Given the description of an element on the screen output the (x, y) to click on. 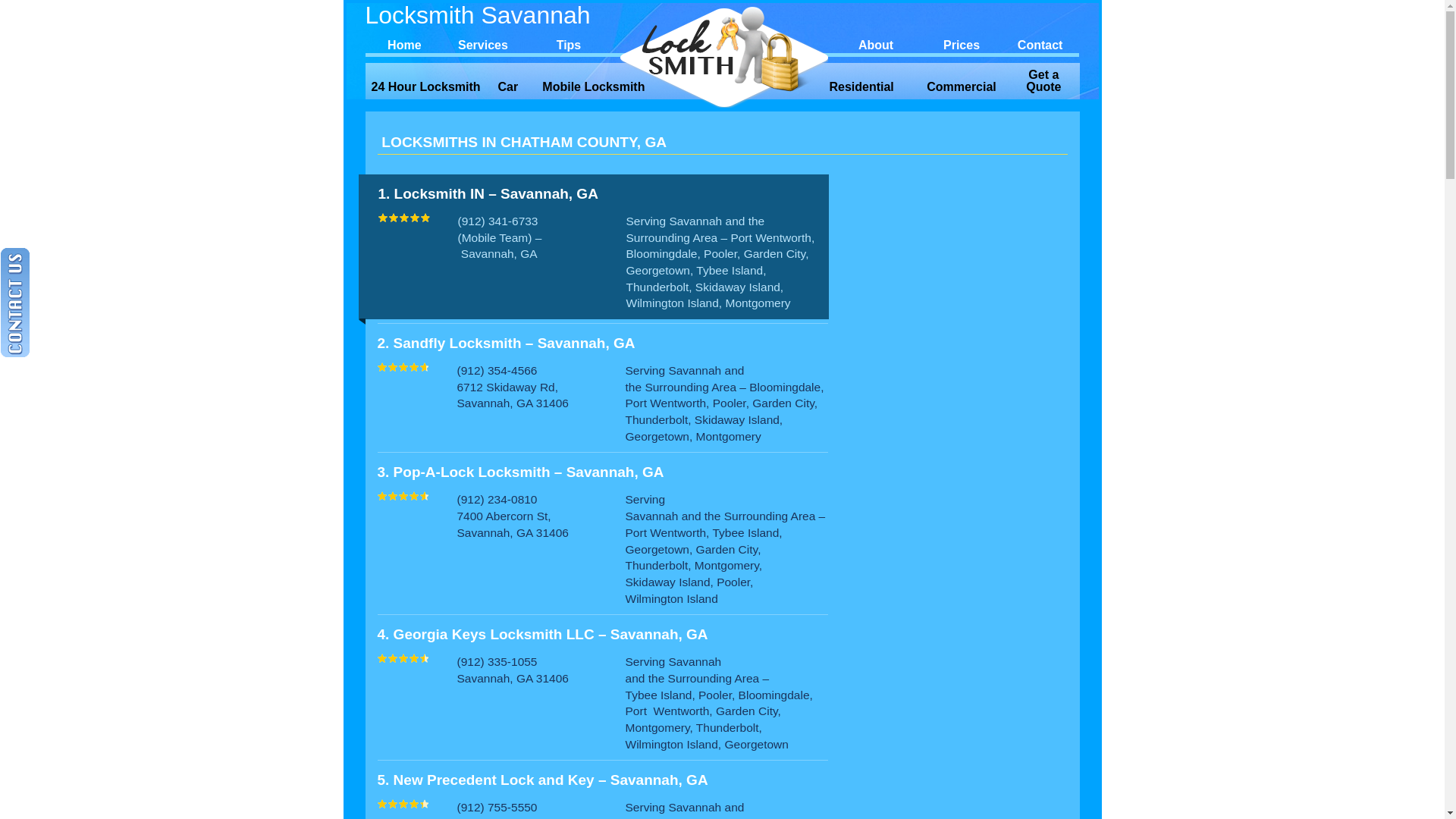
(912) 234-0810 Element type: text (496, 498)
Get a Quote Element type: text (1043, 80)
Commercial Element type: text (961, 87)
About Element type: text (875, 43)
(912) 335-1055 Element type: text (496, 661)
24 Hour Locksmith Element type: text (425, 87)
Tips Element type: text (568, 43)
Locksmith Savannah Element type: text (490, 15)
Mobile Locksmith Element type: text (593, 87)
Services Element type: text (482, 43)
Contact Element type: text (1040, 43)
Locksmith Savannah, Georgia Element type: hover (722, 56)
(912) 354-4566 Element type: text (496, 370)
(912) 341-6733 Element type: text (498, 220)
Residential Element type: text (860, 87)
Home Element type: text (404, 43)
Car Element type: text (508, 87)
Prices Element type: text (961, 43)
(912) 755-5550 Element type: text (496, 806)
